Given the description of an element on the screen output the (x, y) to click on. 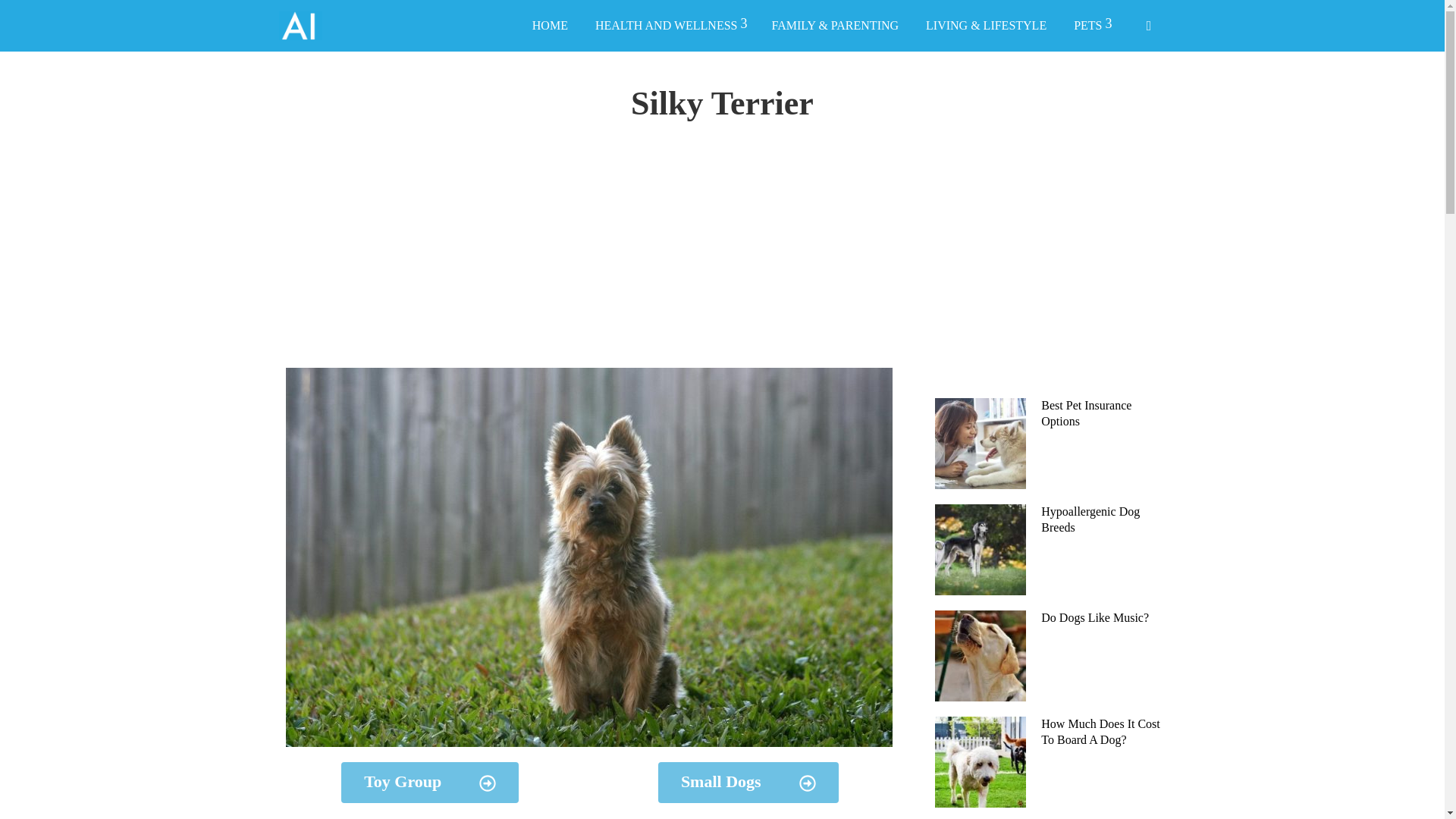
Small Dogs (748, 782)
HEALTH AND WELLNESS (669, 25)
Toy Group (429, 782)
PETS (1090, 25)
Advertisement (589, 261)
Advertisement (1067, 261)
HOME (550, 25)
